Given the description of an element on the screen output the (x, y) to click on. 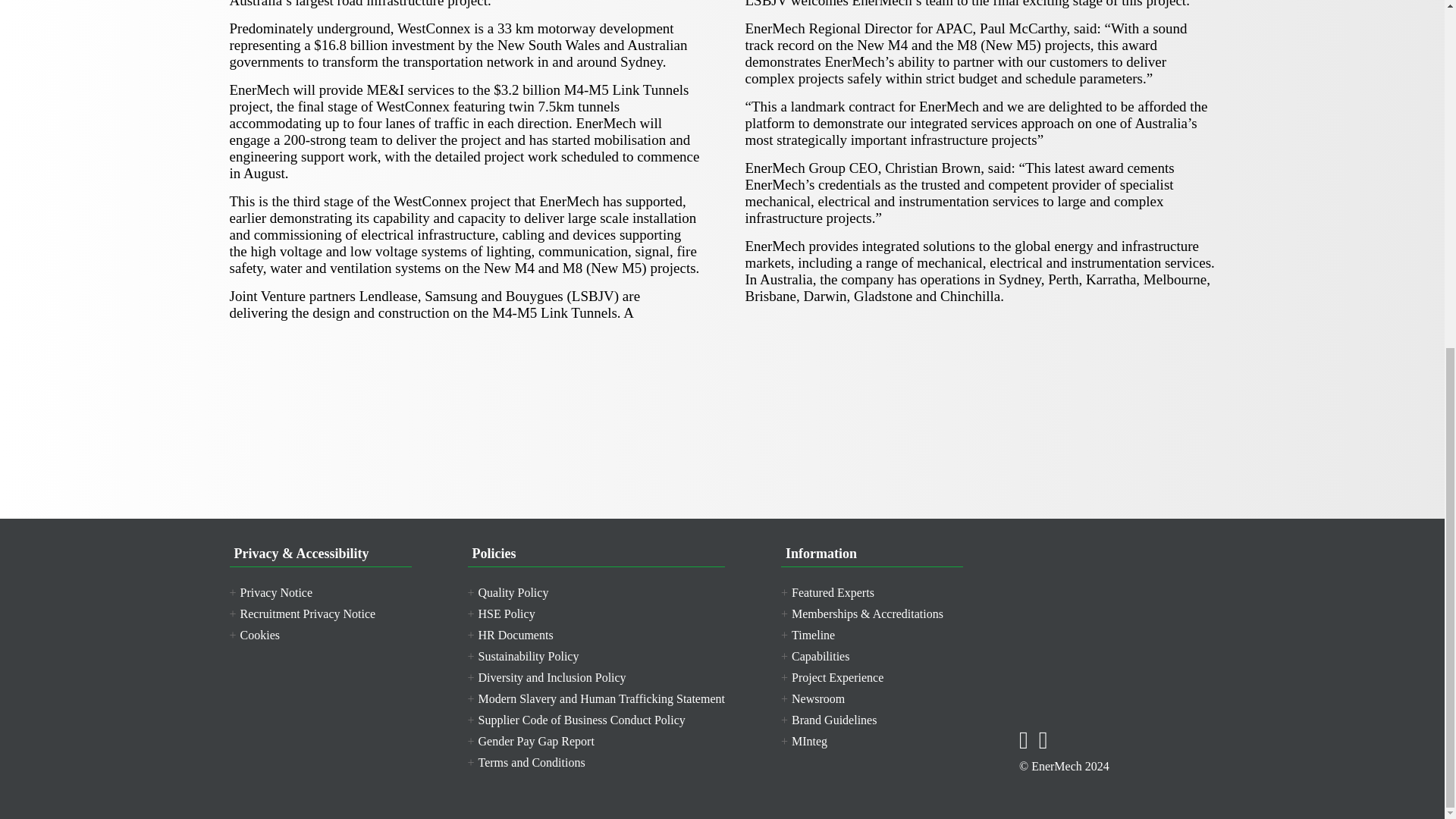
Modern Slavery and Human Trafficking Statement (595, 698)
Quality Policy (507, 592)
Supplier Code of Business Conduct Policy (575, 719)
Timeline (807, 634)
Privacy Notice (270, 592)
Featured Experts (827, 592)
Diversity and Inclusion Policy (546, 676)
Capabilities (814, 656)
Project Experience (831, 676)
HSE Policy (500, 613)
